Given the description of an element on the screen output the (x, y) to click on. 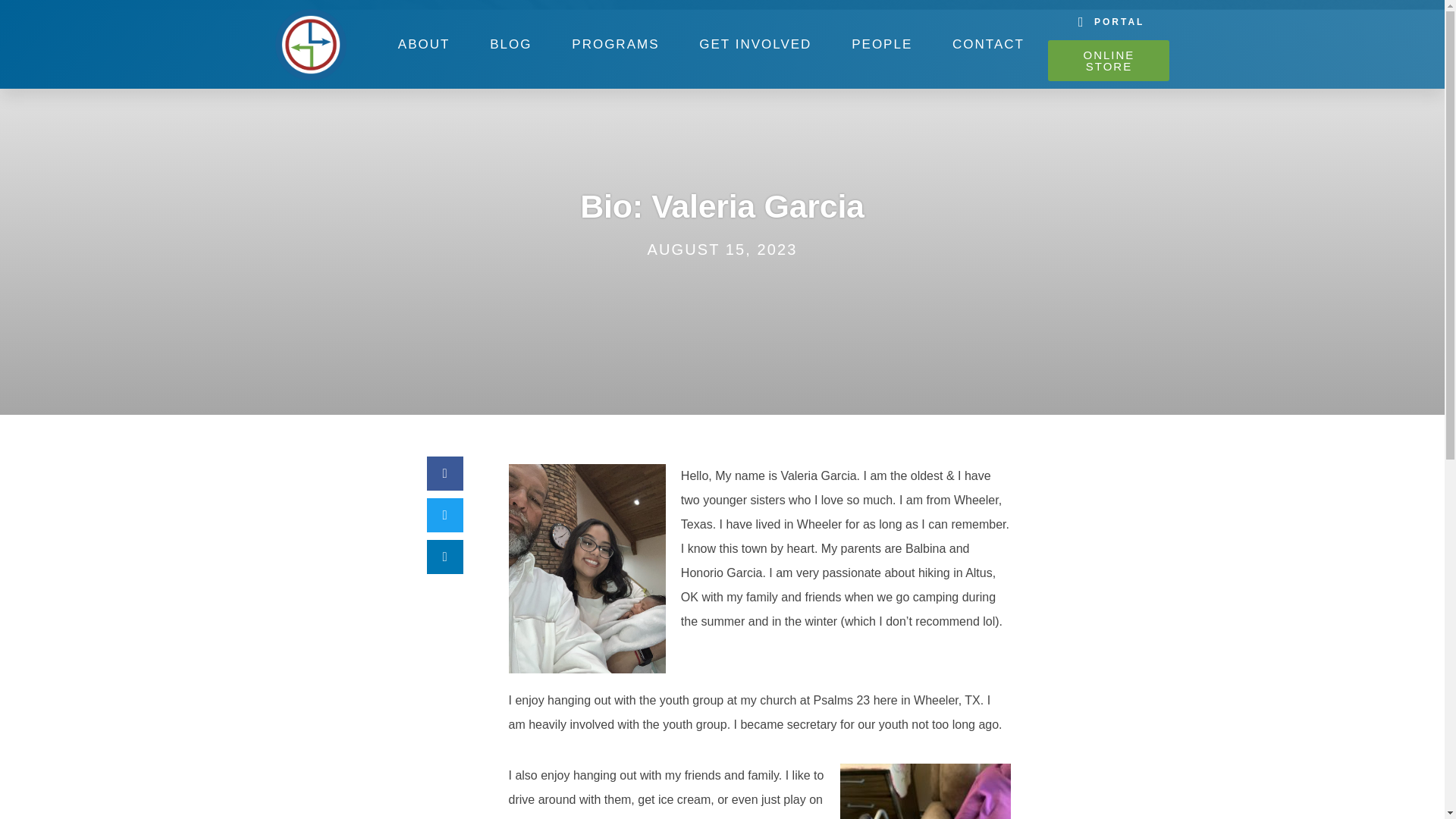
CONTACT (989, 43)
ONLINE STORE (1108, 60)
BLOG (510, 43)
PEOPLE (882, 43)
GET INVOLVED (755, 43)
ABOUT (422, 43)
PROGRAMS (615, 43)
PORTAL (1108, 21)
